Given the description of an element on the screen output the (x, y) to click on. 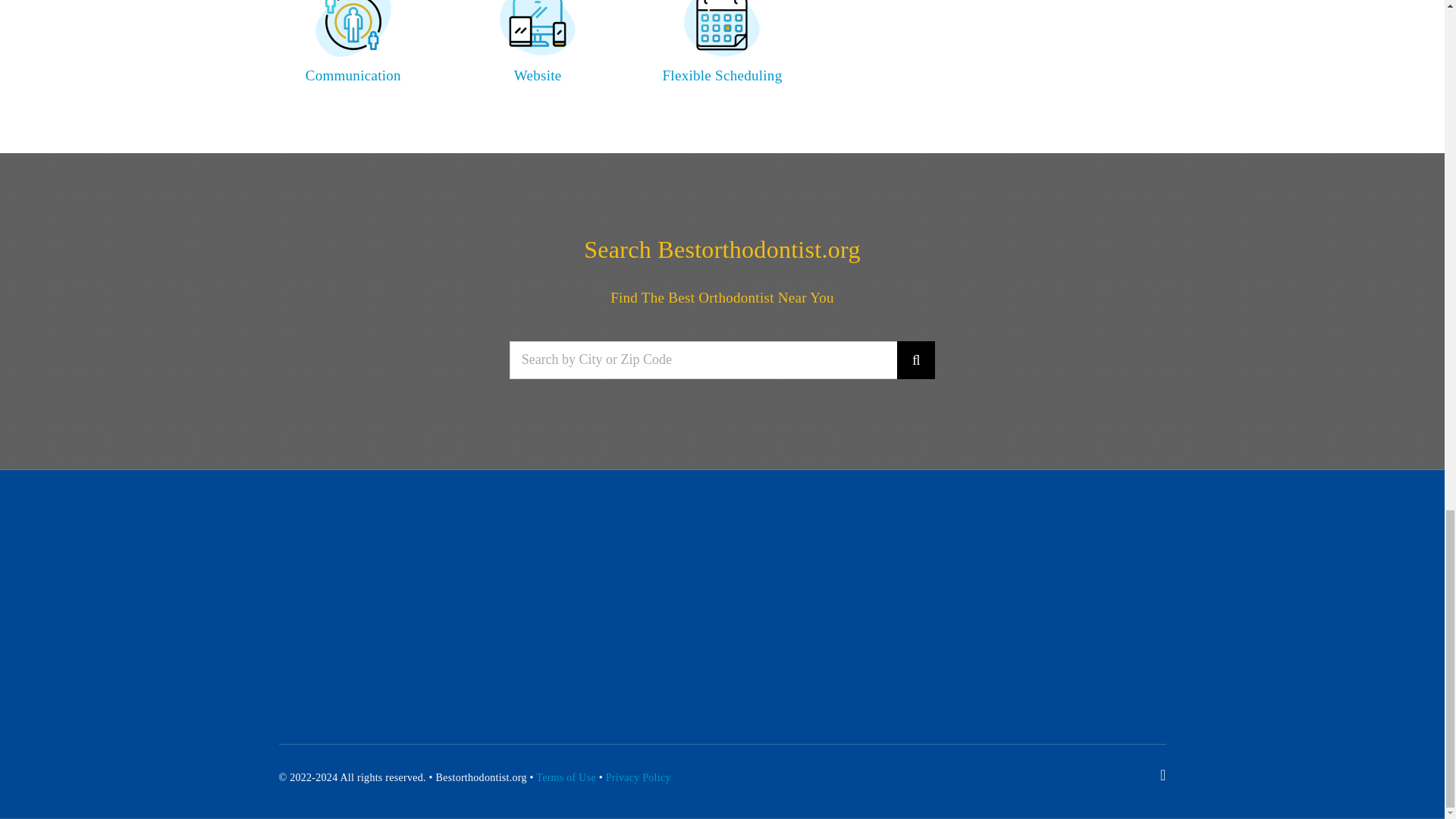
best-orthodontist-footer-logo (432, 594)
